Given the description of an element on the screen output the (x, y) to click on. 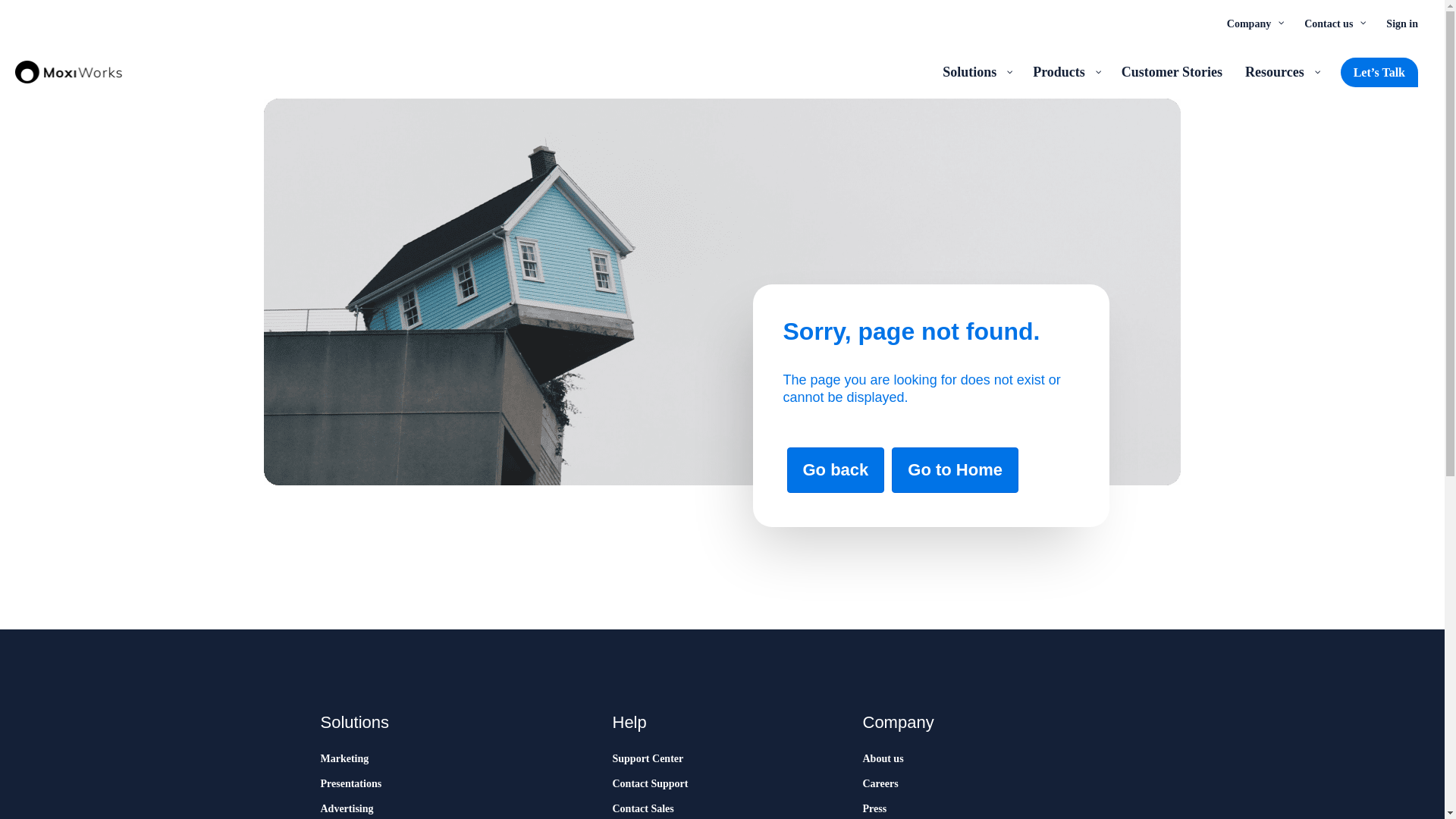
Sign in (1401, 22)
Products (1065, 72)
Solutions (976, 72)
Contact us (1333, 22)
Company (1253, 22)
